Given the description of an element on the screen output the (x, y) to click on. 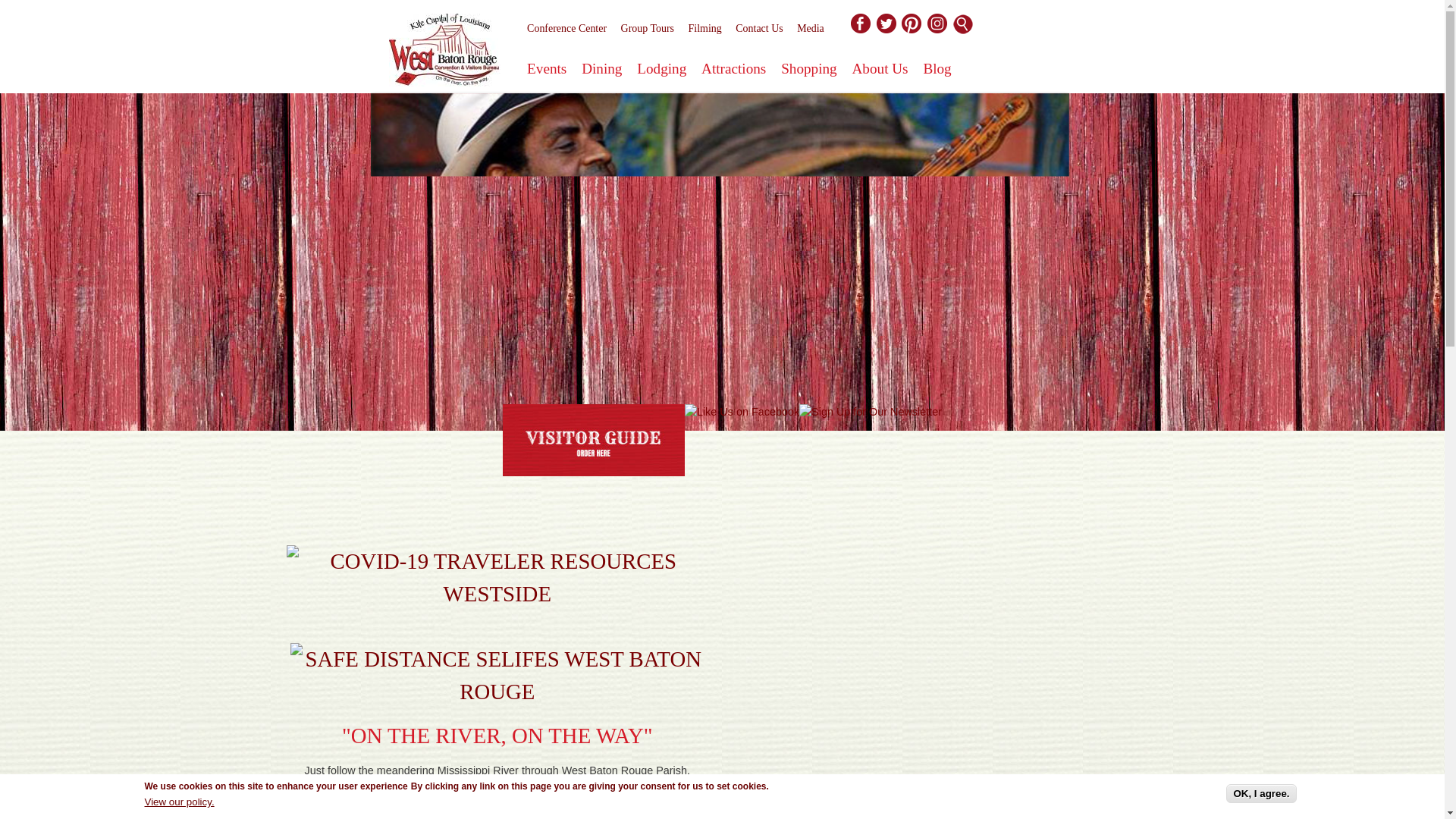
Like Us on Facebook (741, 412)
Return to the West Baton Rouge home page (444, 53)
Sign Up for Our Newsletter (870, 412)
Order West Baton Rouge Information (593, 439)
